Given the description of an element on the screen output the (x, y) to click on. 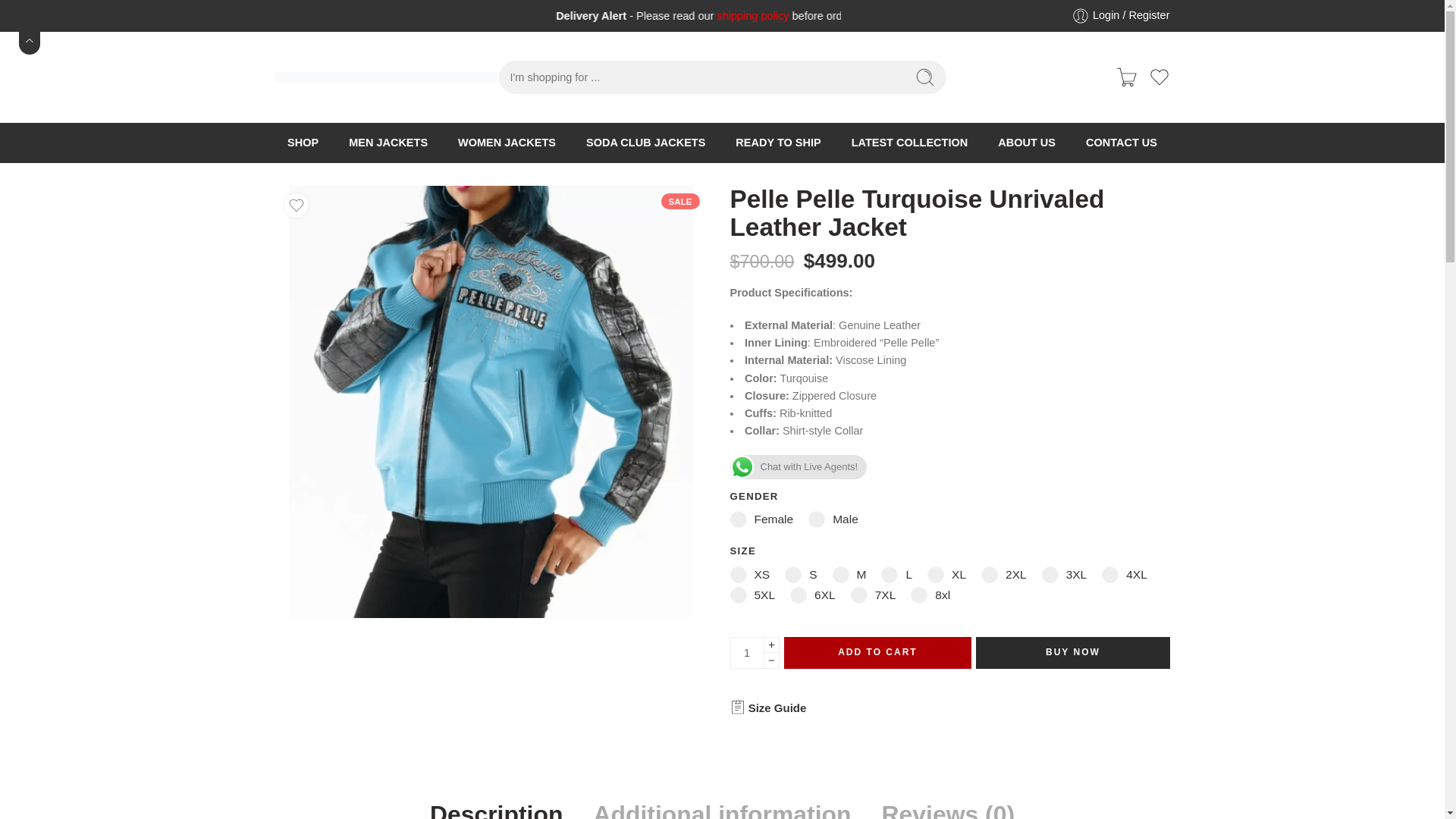
S (800, 573)
ABOUT US (1026, 142)
shipping policy (1034, 15)
XS (749, 573)
CONTACT US (1121, 142)
Female (761, 519)
SODA CLUB JACKETS (645, 142)
MEN JACKETS (388, 142)
3XL (1064, 573)
5XL (751, 595)
LATEST COLLECTION (909, 142)
Click Here (1373, 15)
Wishlist (1158, 76)
Male (833, 519)
L (896, 573)
